Given the description of an element on the screen output the (x, y) to click on. 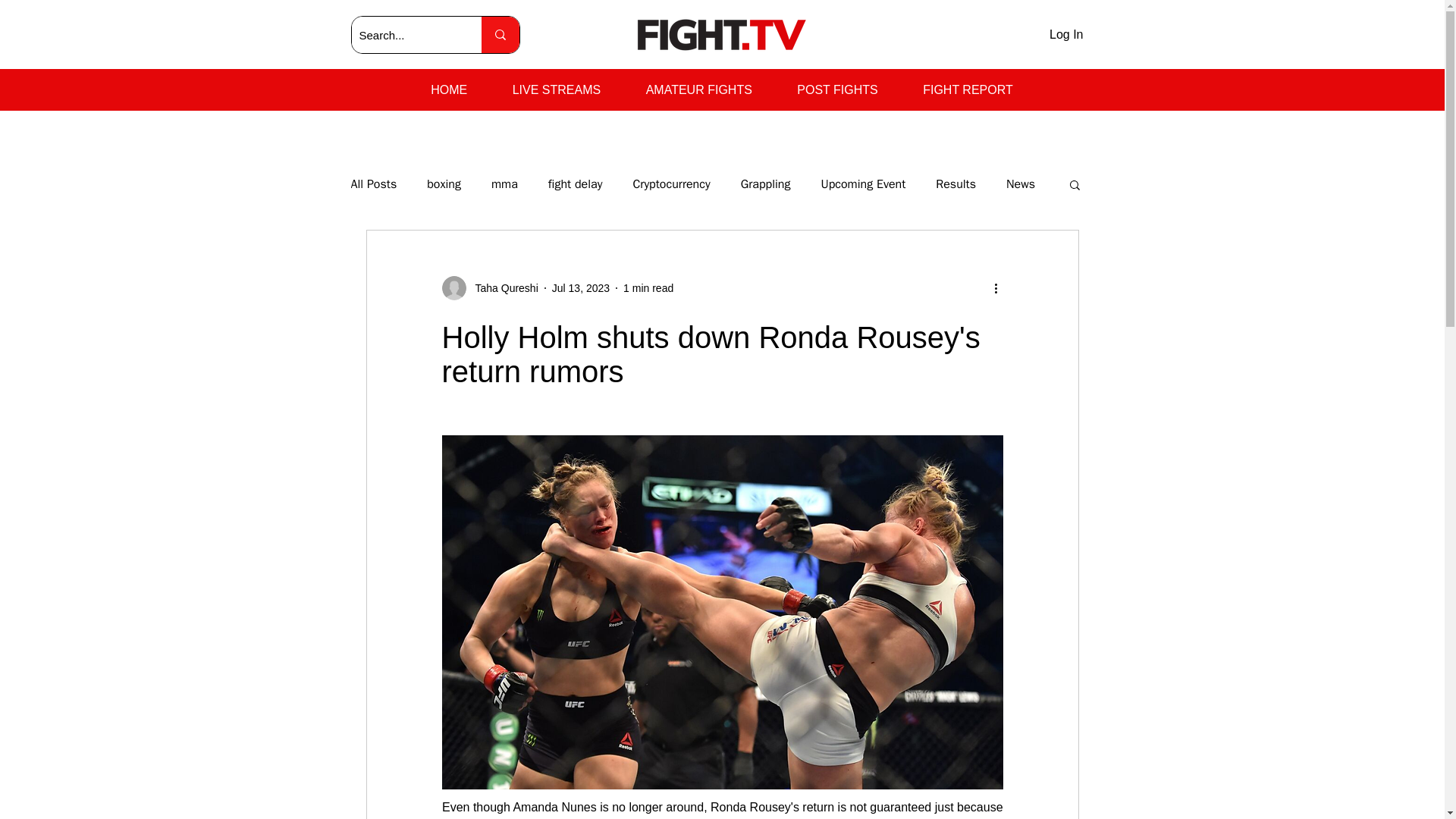
Jul 13, 2023 (580, 287)
All Posts (373, 183)
POST FIGHTS (837, 90)
fight delay (575, 183)
Cryptocurrency (670, 183)
1 min read (647, 287)
HOME (448, 90)
Taha Qureshi (501, 288)
AMATEUR FIGHTS (698, 90)
boxing (443, 183)
Grappling (765, 183)
Results (955, 183)
Log In (1066, 34)
FIGHT REPORT (967, 90)
Upcoming Event (863, 183)
